Given the description of an element on the screen output the (x, y) to click on. 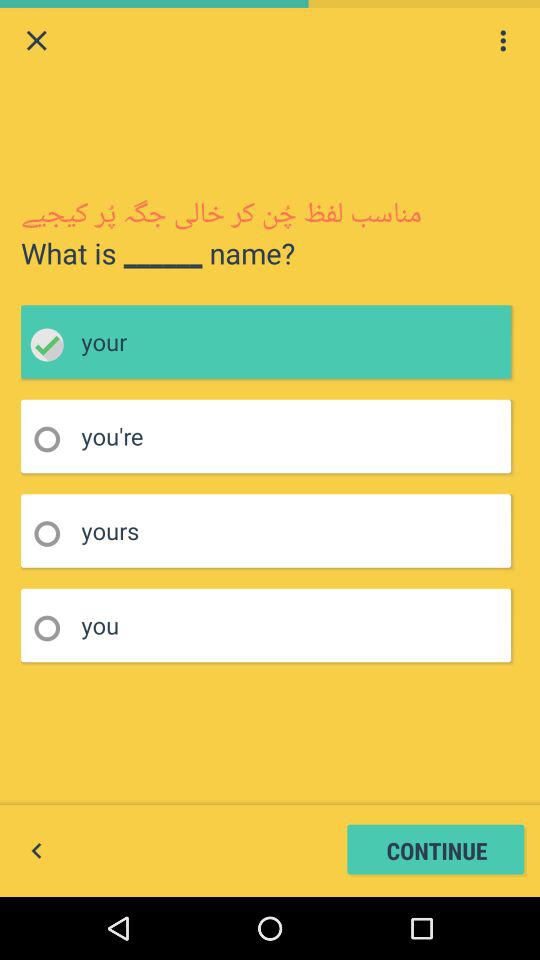
more (503, 40)
